Given the description of an element on the screen output the (x, y) to click on. 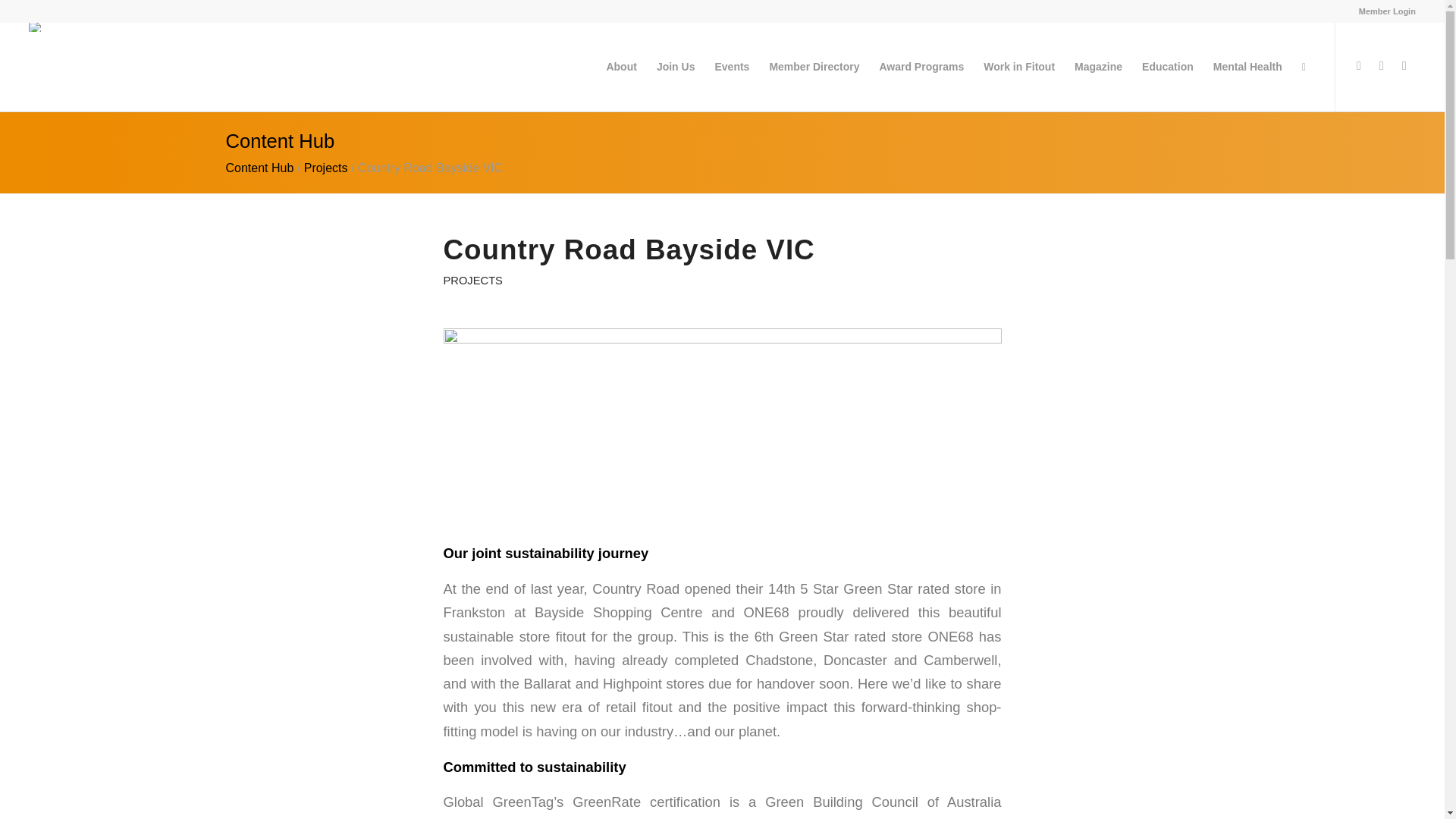
Content Hub (259, 167)
Facebook (1381, 65)
Country Road Bayside VIC (721, 423)
Member Login (1386, 11)
Work in Fitout (1019, 66)
Projects (325, 167)
Instagram (1359, 65)
PROJECTS (472, 280)
Permanent Link: Content Hub (279, 140)
Award Programs (921, 66)
Member Directory (813, 66)
Join Us (675, 66)
Content Hub (259, 167)
LinkedIn (1404, 65)
About (620, 66)
